Given the description of an element on the screen output the (x, y) to click on. 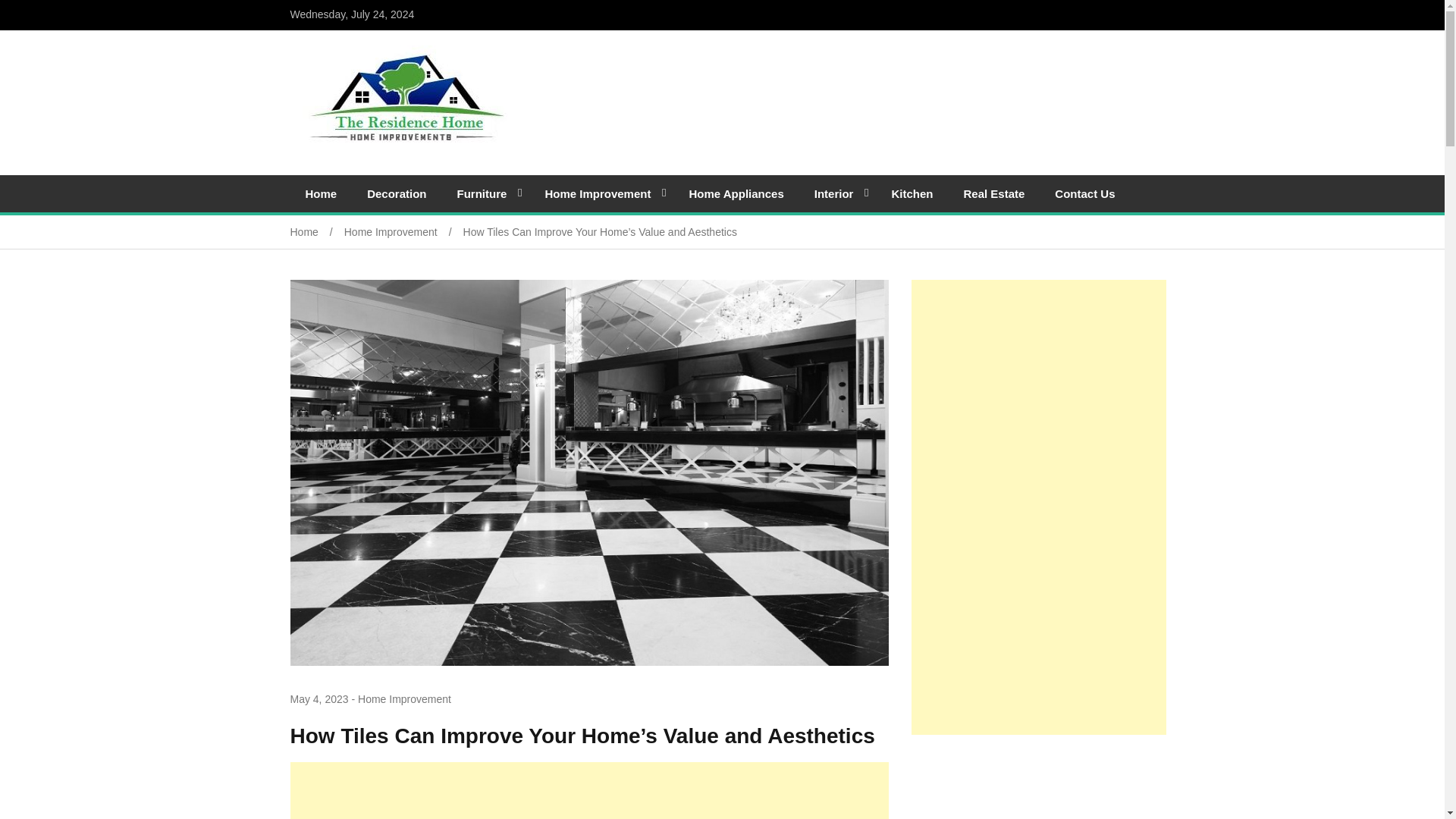
Contact Us (1084, 193)
May 4, 2023 (318, 699)
Home (320, 193)
Decoration (396, 193)
Home (316, 232)
Real Estate (993, 193)
Furniture (485, 193)
Interior (837, 193)
Advertisement (1038, 785)
Home Appliances (734, 193)
Home Improvement (404, 698)
Kitchen (911, 193)
Home Improvement (403, 232)
Home Improvement (600, 193)
